Given the description of an element on the screen output the (x, y) to click on. 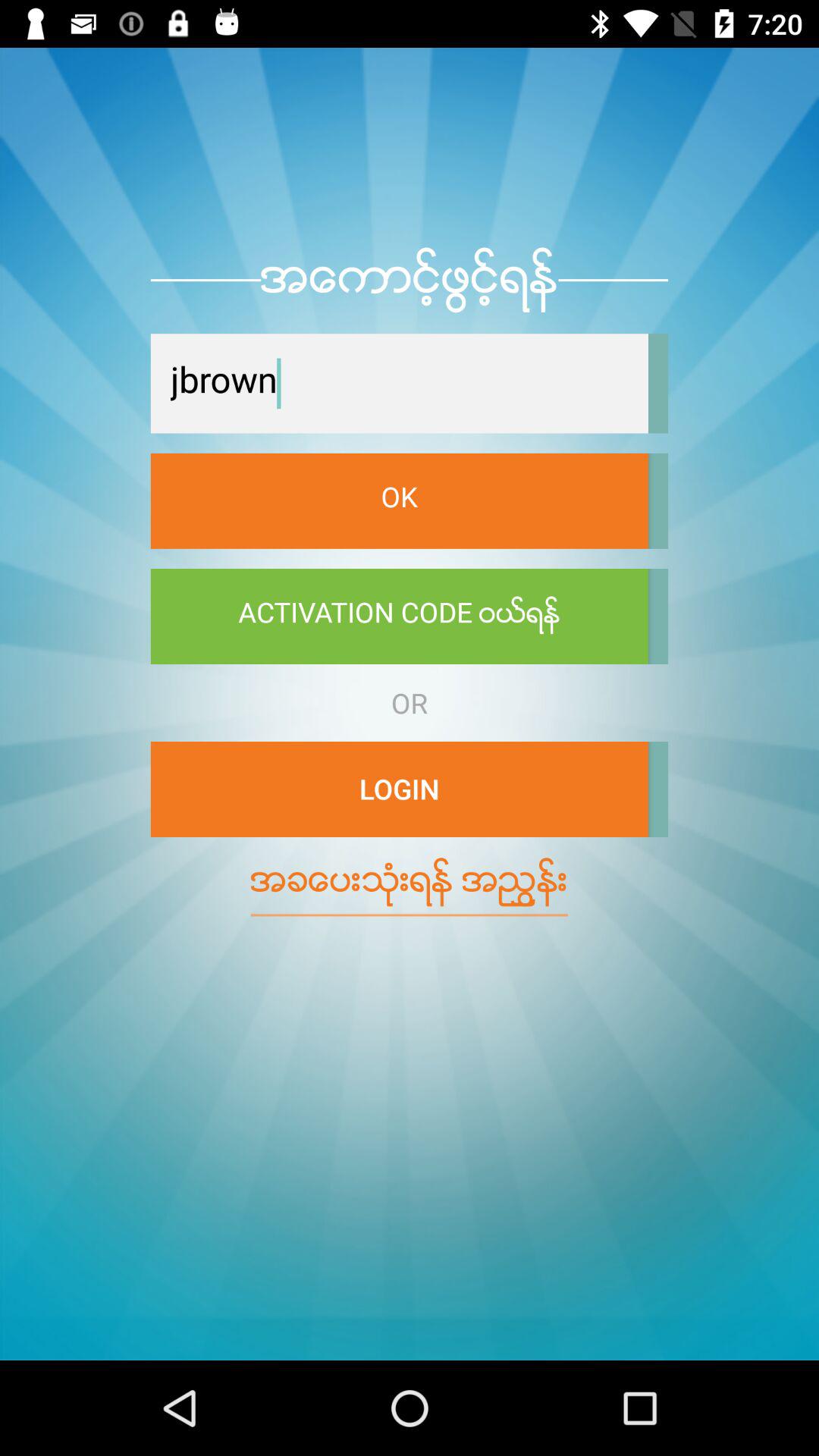
select icon below ok item (399, 616)
